Given the description of an element on the screen output the (x, y) to click on. 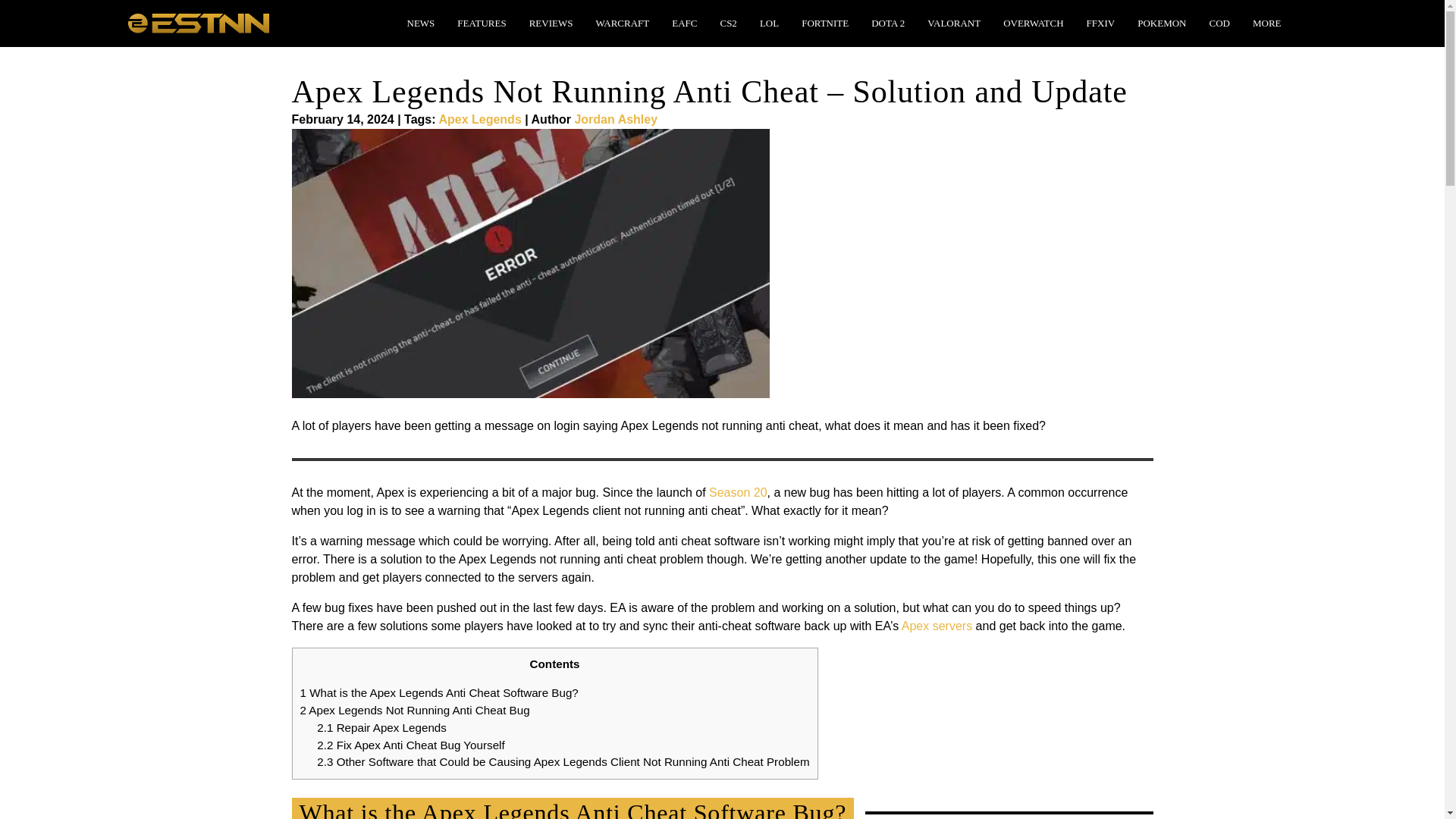
VALORANT (954, 23)
2.1 Repair Apex Legends (381, 727)
Jordan Ashley (615, 119)
FEATURES (481, 23)
Apex Legends (479, 119)
2 Apex Legends Not Running Anti Cheat Bug (414, 709)
MORE (1266, 23)
Apex servers (936, 625)
FFXIV (1100, 23)
FORTNITE (824, 23)
